Given the description of an element on the screen output the (x, y) to click on. 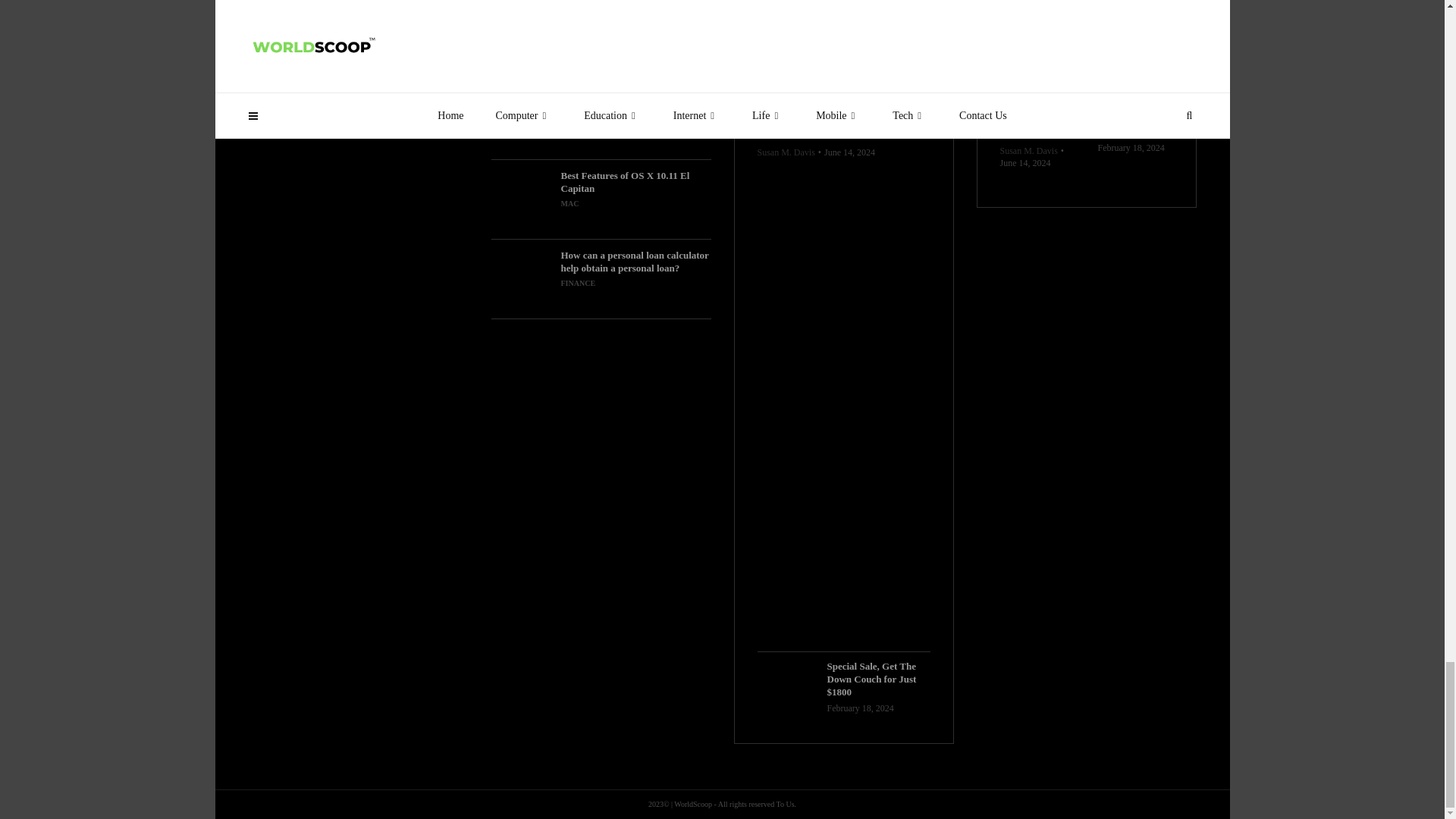
How ULIPs Can Help in Meeting Long-Term Goals 3 (521, 119)
Supreme Court Decisions: Complete List from 1700s to 2020s 6 (843, 63)
Supreme Court Decisions: Complete List from 1700s to 2020s 8 (1036, 39)
Best Features of OS X 10.11 El Capitan 4 (521, 199)
Software Engineer Internship - A Step-by-Step Guide 2 (521, 39)
